Given the description of an element on the screen output the (x, y) to click on. 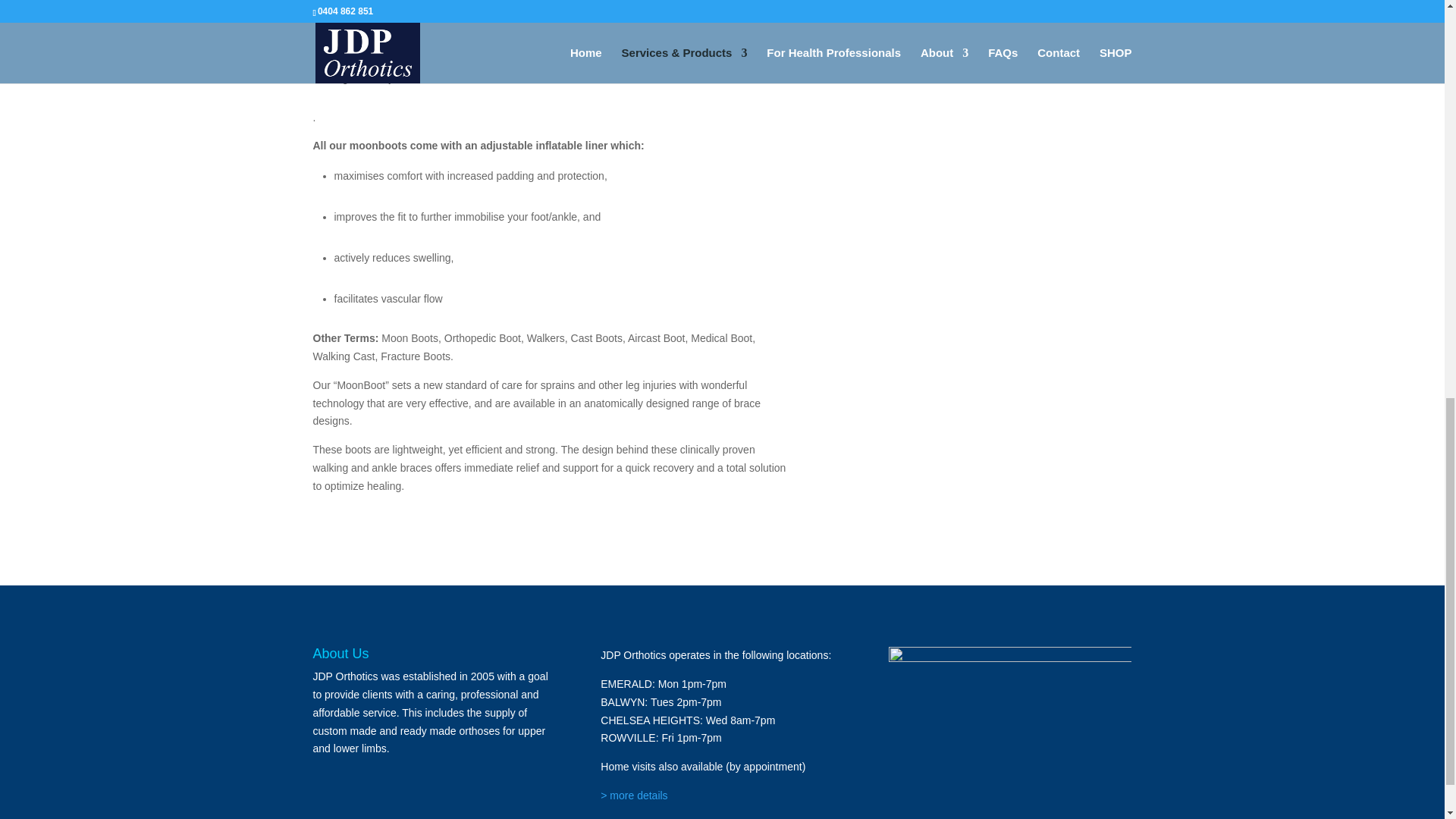
aopa-logo wt (1009, 673)
